Given the description of an element on the screen output the (x, y) to click on. 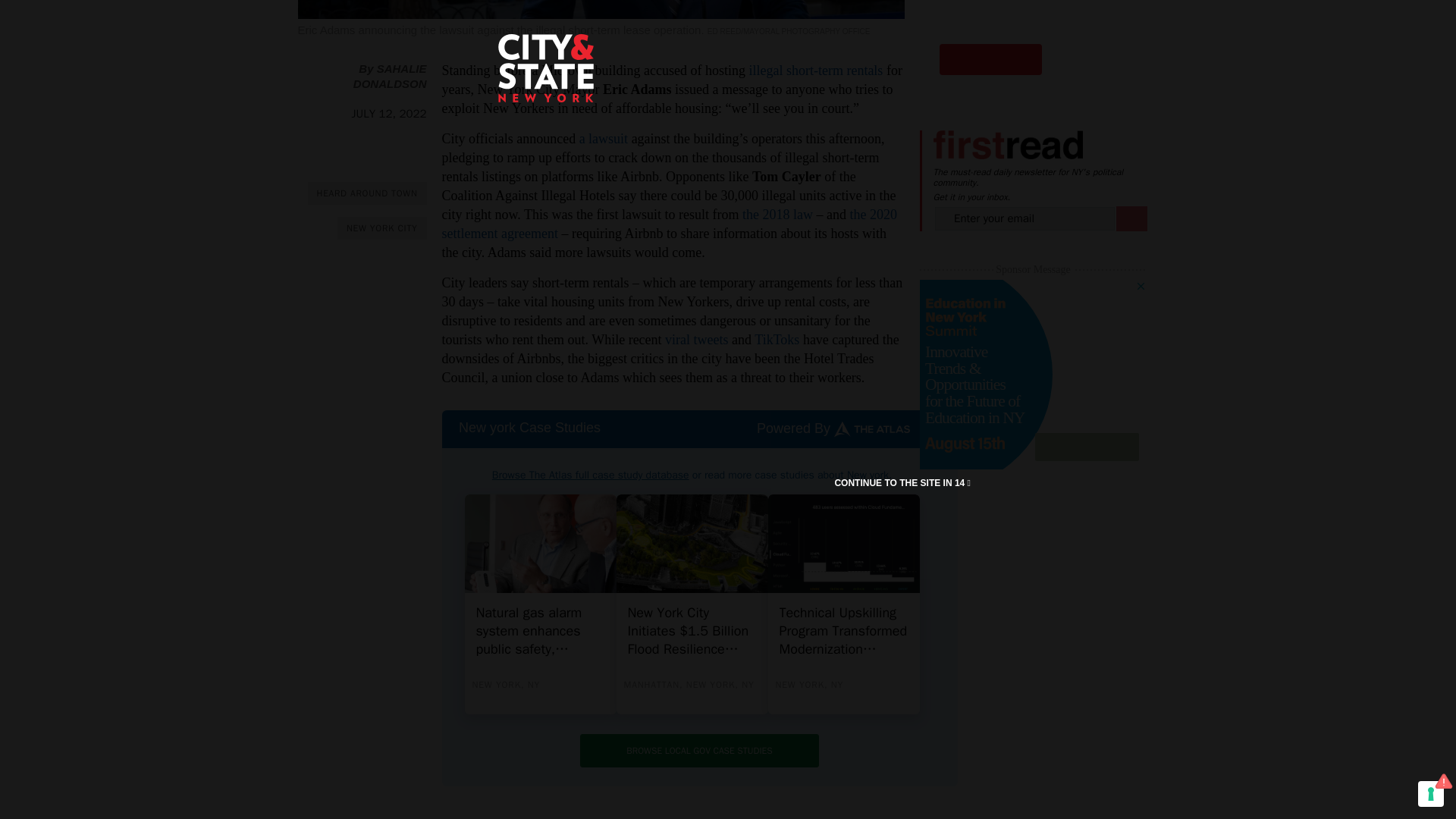
3rd party ad content (1032, 46)
